Given the description of an element on the screen output the (x, y) to click on. 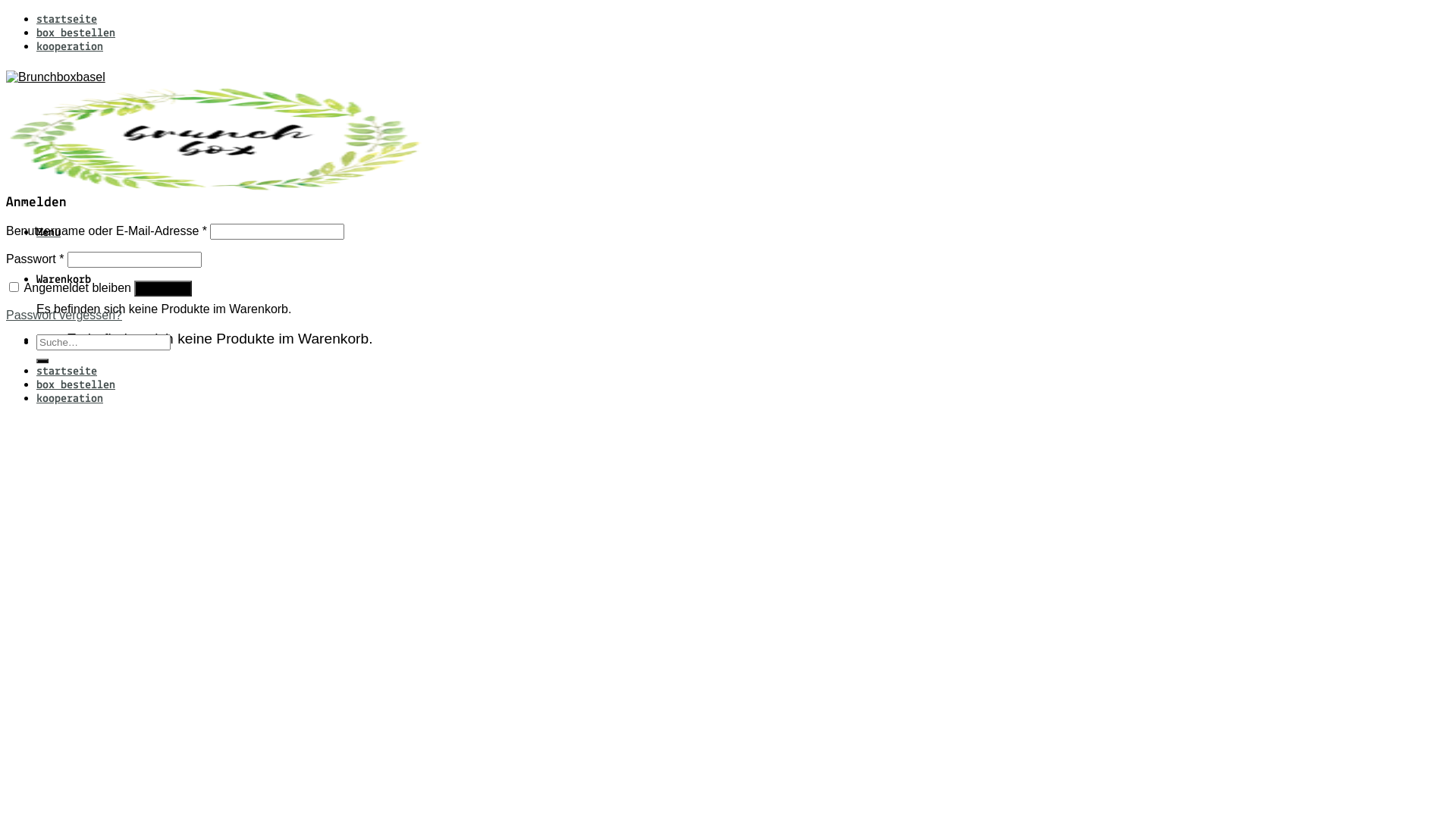
Passwort vergessen? Element type: text (64, 314)
Anmelden Element type: text (162, 288)
kooperation Element type: text (69, 46)
box bestellen Element type: text (75, 385)
startseite Element type: text (66, 19)
Menu Element type: text (48, 232)
Skip to content Element type: text (5, 11)
startseite Element type: text (66, 371)
box bestellen Element type: text (75, 33)
Brunchboxbasel Element type: hover (214, 133)
kooperation Element type: text (69, 398)
Suche Element type: text (42, 360)
